Given the description of an element on the screen output the (x, y) to click on. 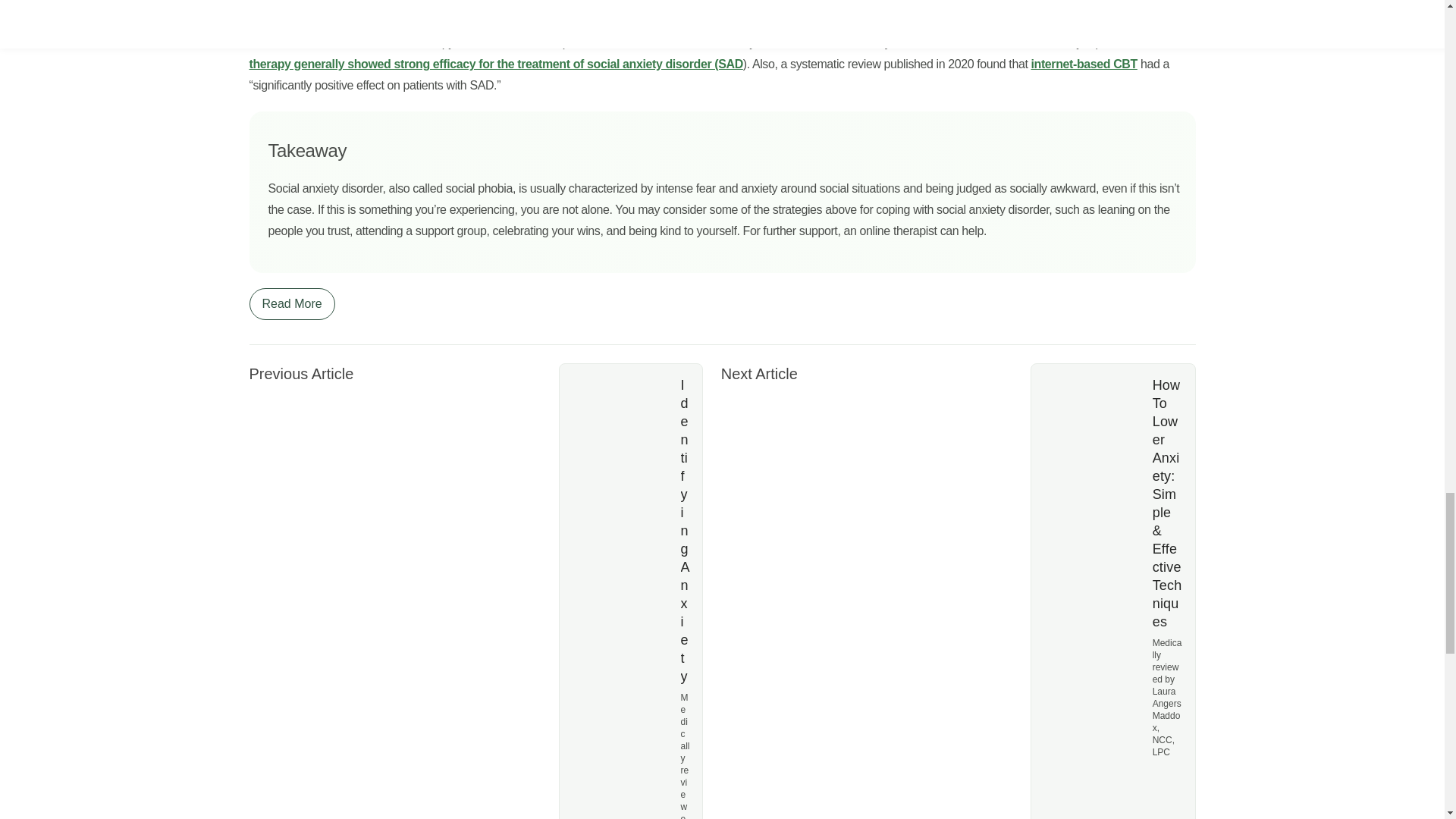
internet-based CBT (1083, 63)
Read More (291, 304)
